Given the description of an element on the screen output the (x, y) to click on. 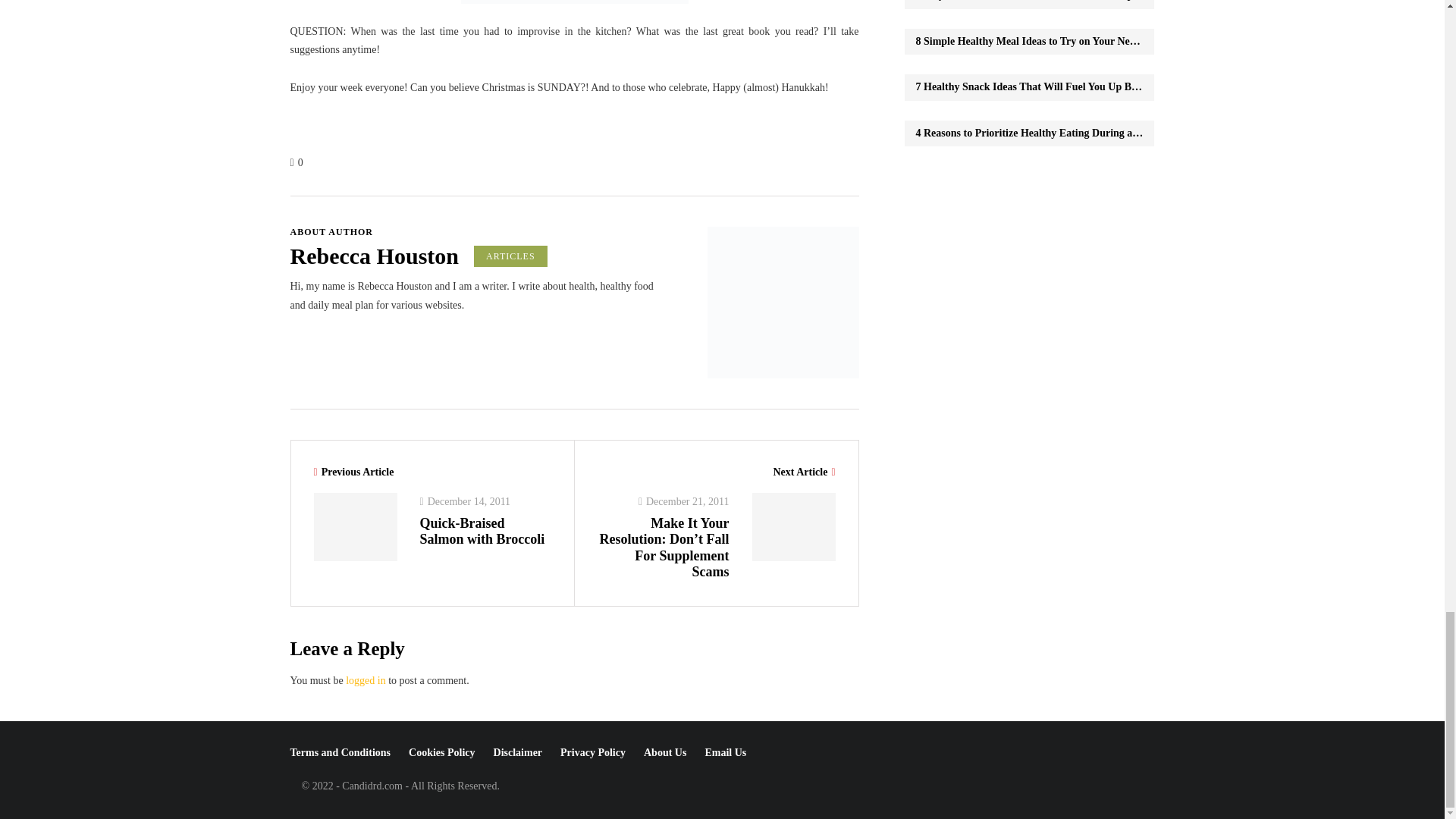
Rebecca Houston (373, 254)
ARTICLES (510, 255)
Posts by Rebecca Houston (373, 254)
My Iron Chef Test (574, 1)
